Given the description of an element on the screen output the (x, y) to click on. 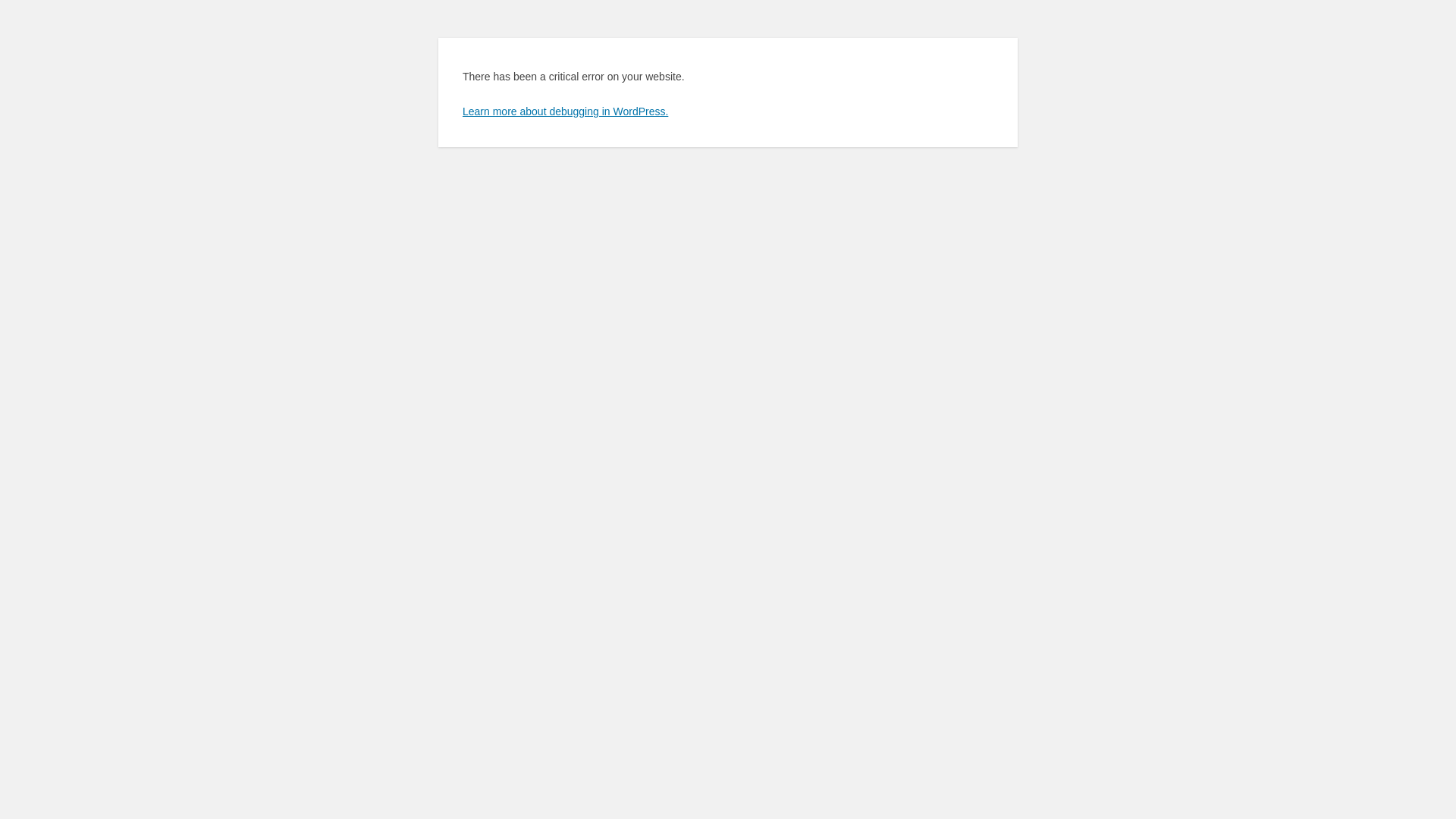
Learn more about debugging in WordPress. Element type: text (565, 111)
